Given the description of an element on the screen output the (x, y) to click on. 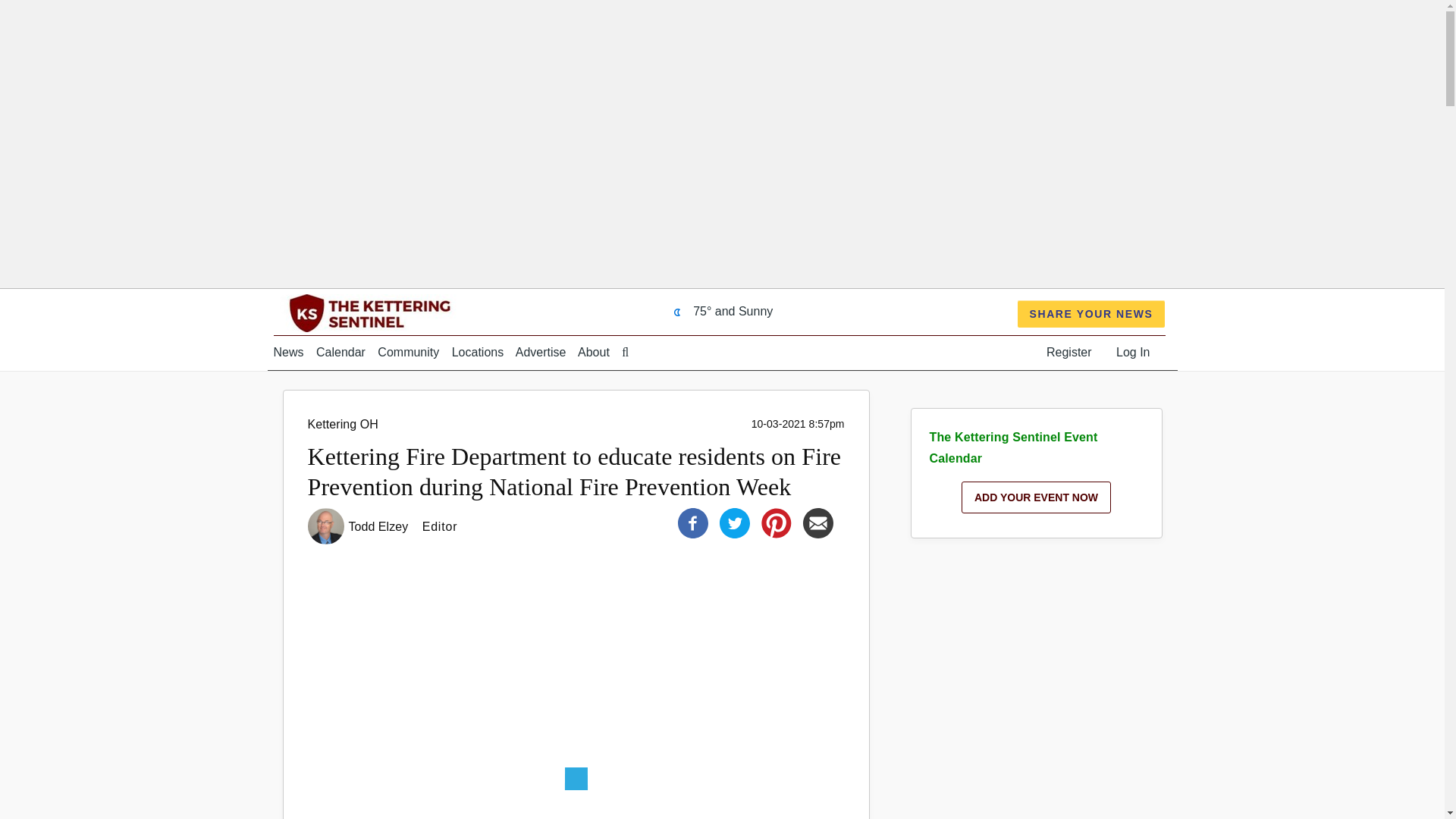
The Kettering Sentinel (405, 311)
Facebook (692, 522)
Advertise (540, 351)
Todd Elzey (380, 526)
Todd Elzey (380, 526)
Register (1069, 351)
Pinterest (776, 522)
News (287, 351)
Kettering OH (342, 423)
Kettering OH weather (719, 310)
